Given the description of an element on the screen output the (x, y) to click on. 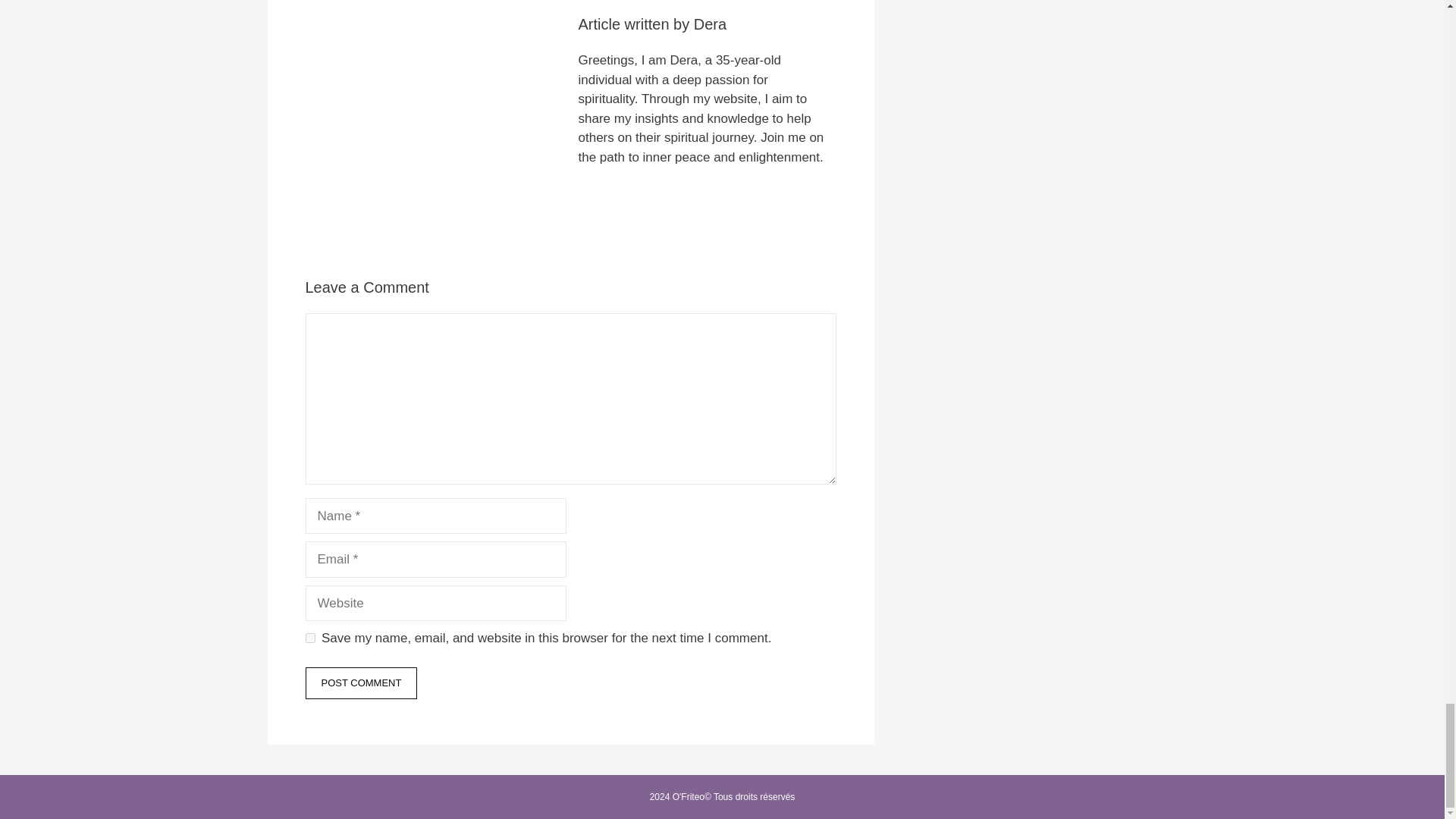
Post Comment (360, 683)
yes (309, 637)
